Given the description of an element on the screen output the (x, y) to click on. 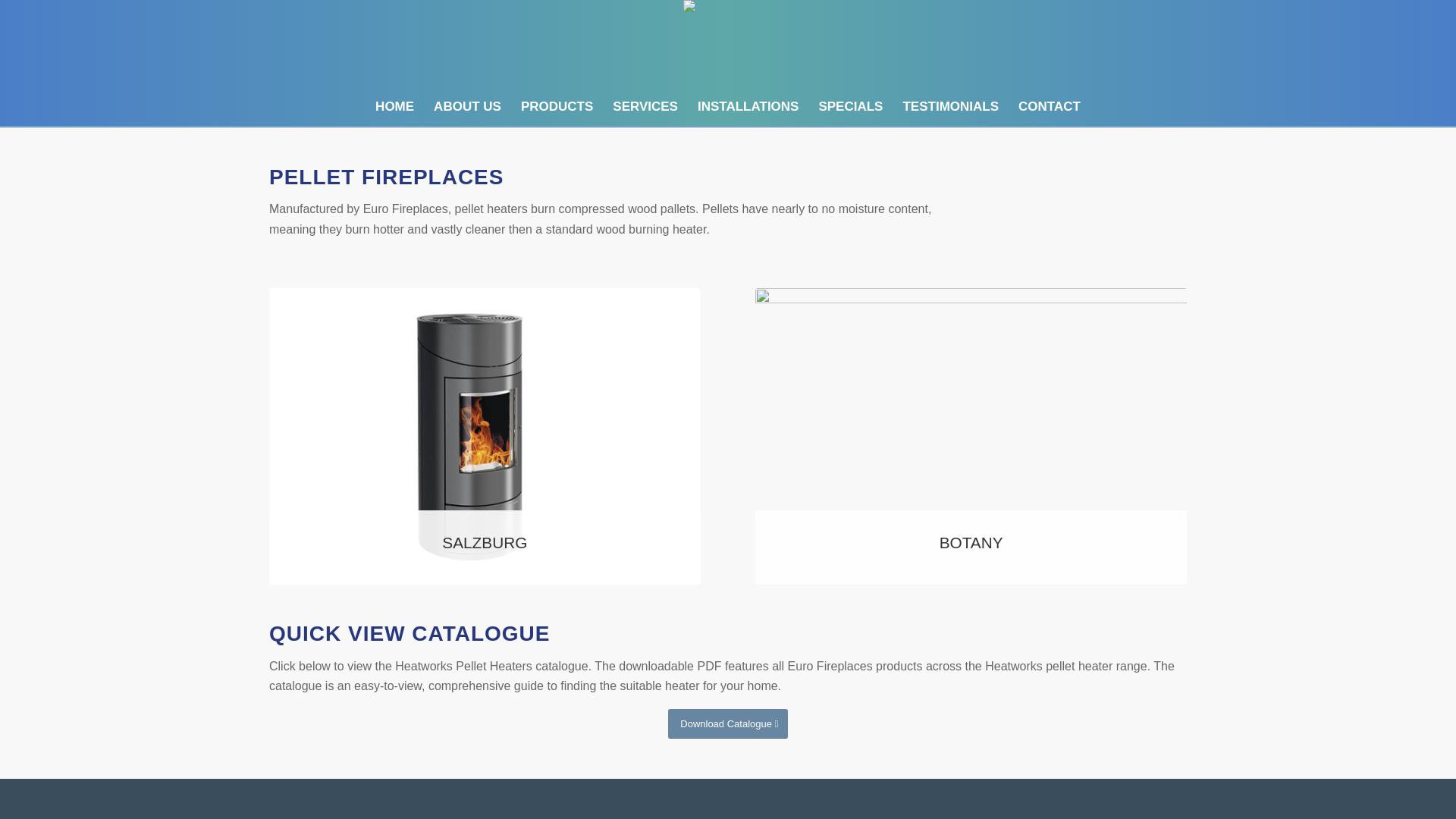
salz cover (484, 436)
CONTACT (1049, 106)
Download Catalogue (727, 723)
BOTANY (970, 436)
PRODUCTS (556, 106)
SERVICES (644, 106)
INSTALLATIONS (747, 106)
TESTIMONIALS (950, 106)
HOME (394, 106)
ABOUT US (467, 106)
SPECIALS (850, 106)
Botany-Pellet-Heater-2 (970, 436)
SALZBURG (484, 436)
